Given the description of an element on the screen output the (x, y) to click on. 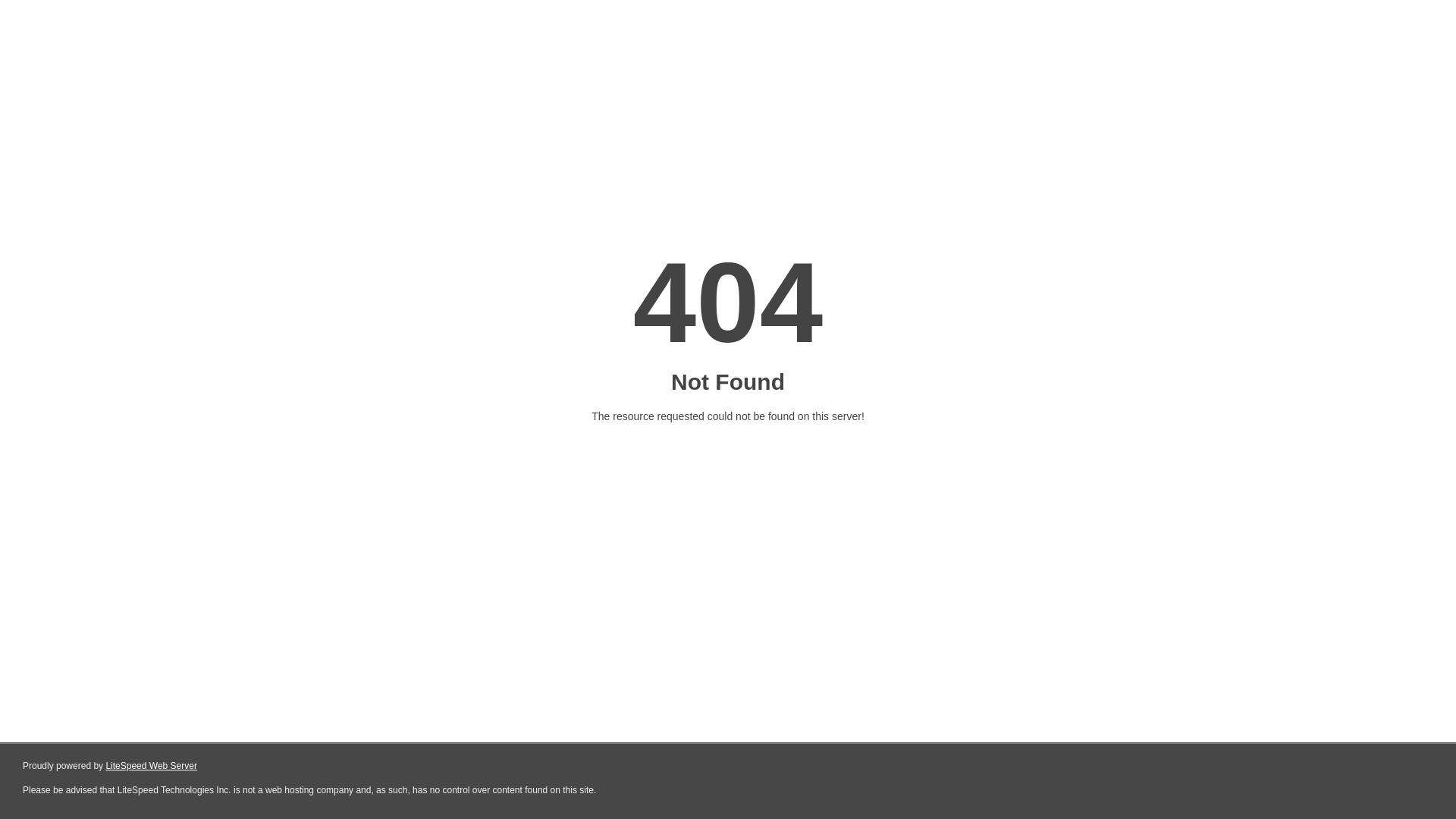
LiteSpeed Web Server Element type: text (151, 765)
